Given the description of an element on the screen output the (x, y) to click on. 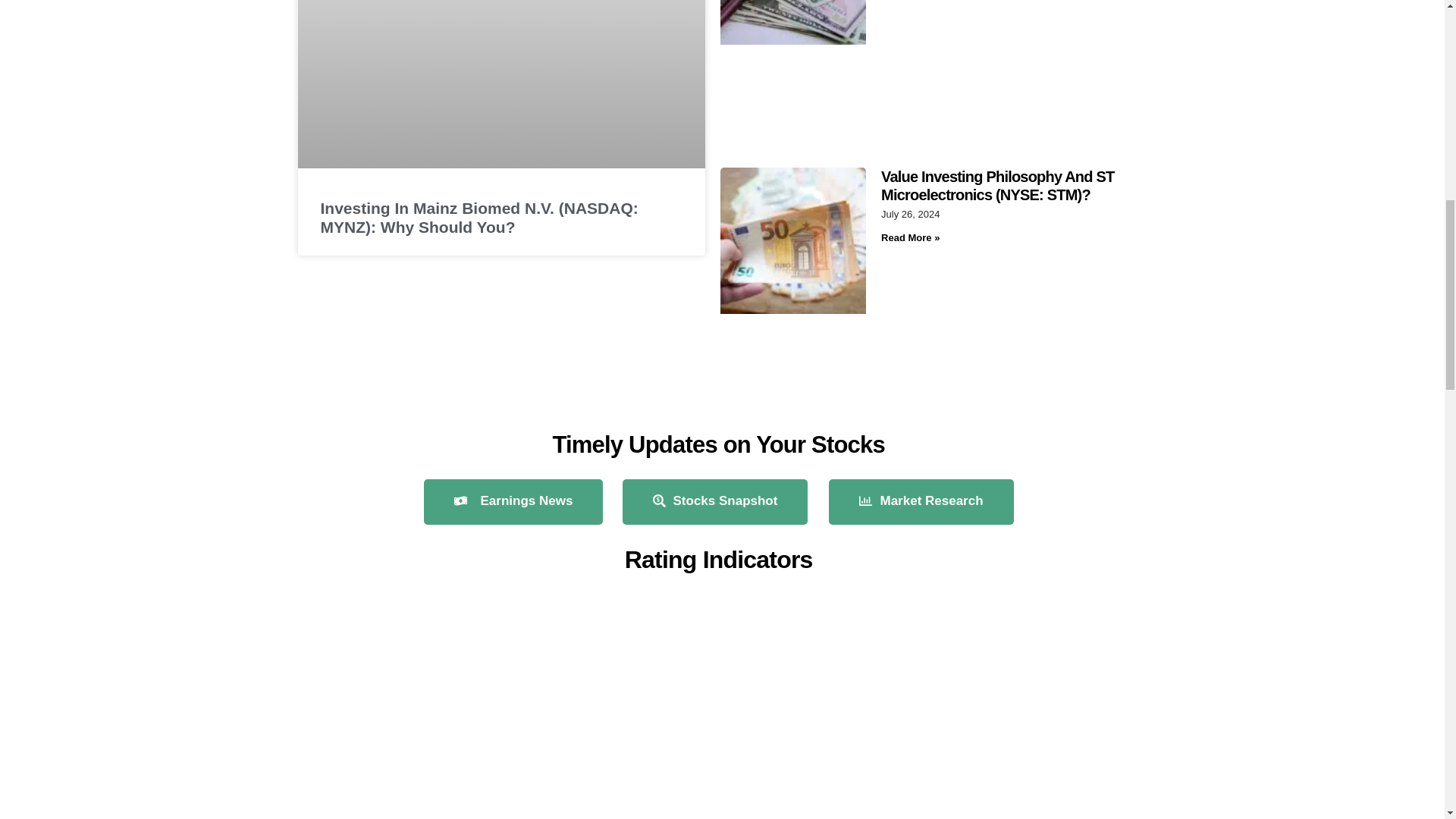
Market Research (920, 501)
Earnings News (513, 501)
Stocks Snapshot (714, 501)
